Given the description of an element on the screen output the (x, y) to click on. 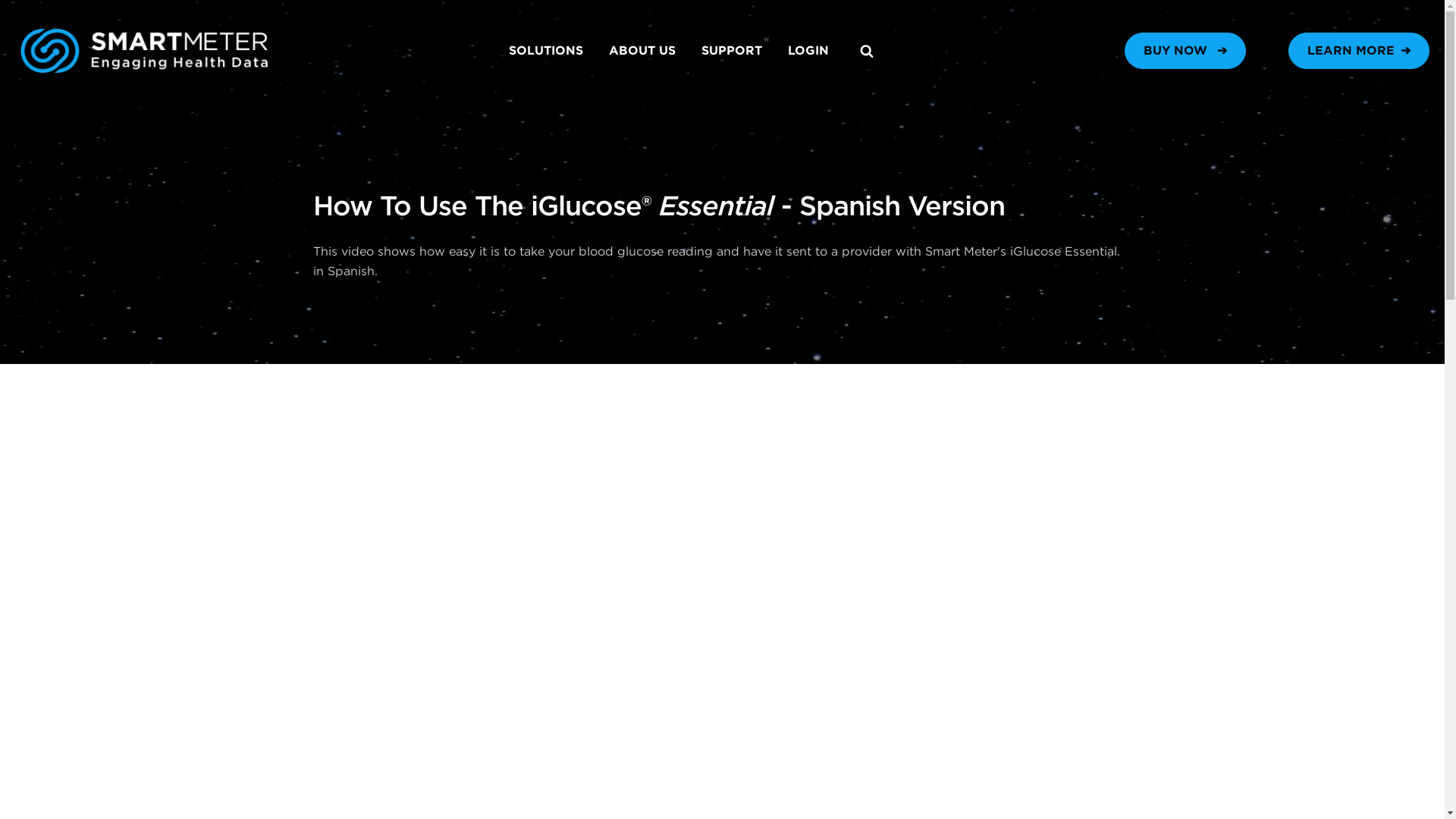
ABOUT US (642, 50)
LOGIN (808, 50)
SOLUTIONS (545, 50)
SUPPORT (731, 50)
